Given the description of an element on the screen output the (x, y) to click on. 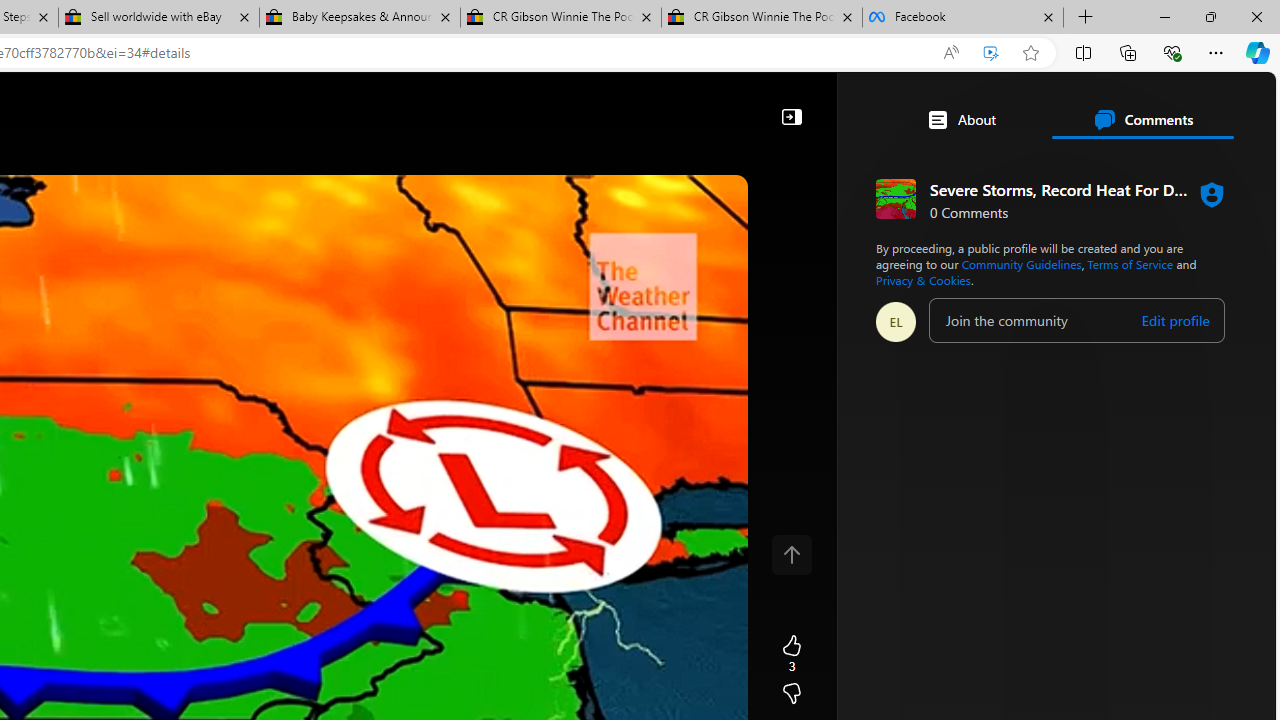
Comments (1142, 119)
Terms of Service (1129, 264)
Microsoft rewards (1151, 105)
Enhance video (991, 53)
To get missing image descriptions, open the context menu. (671, 162)
